Given the description of an element on the screen output the (x, y) to click on. 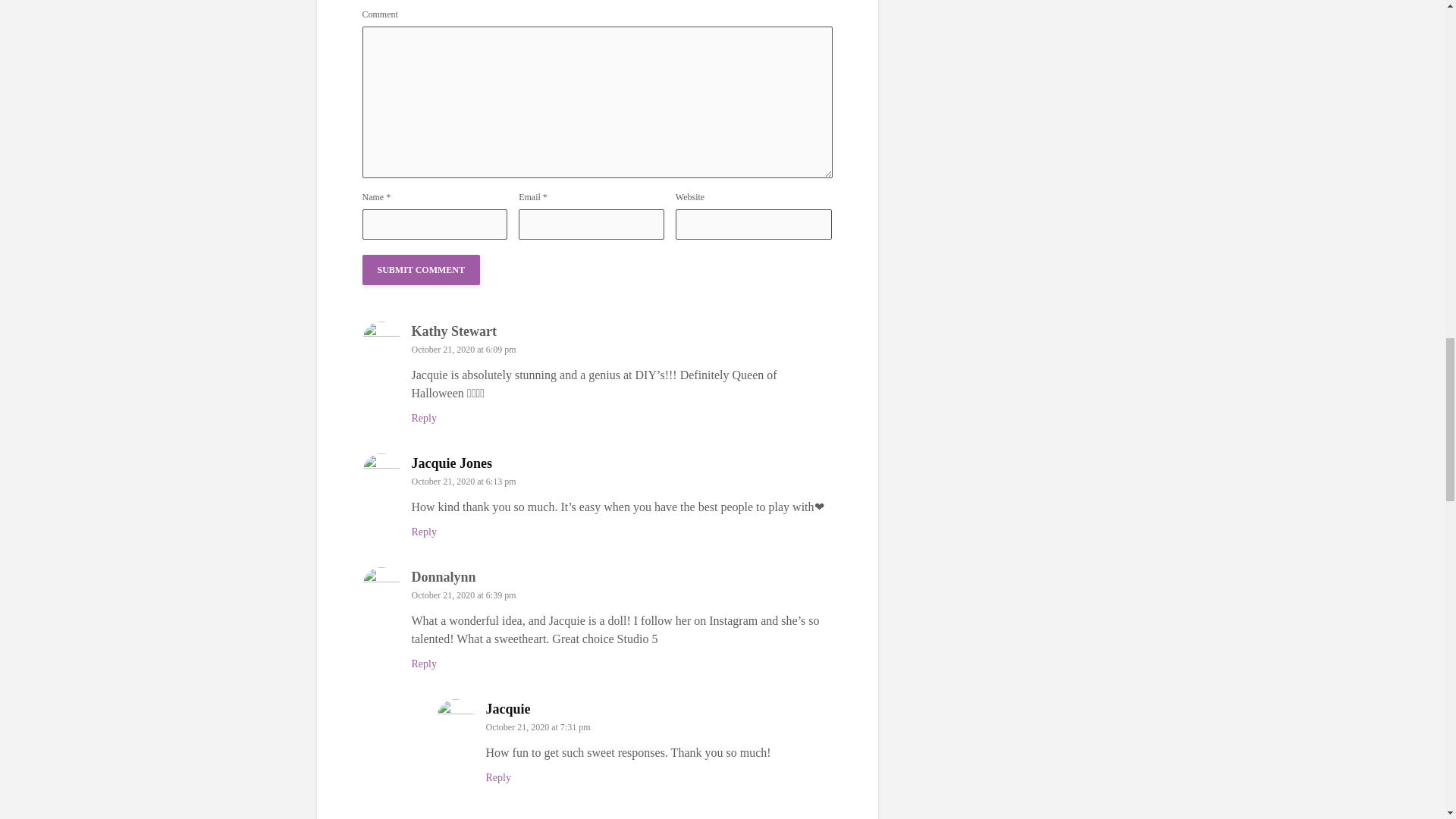
Submit Comment (421, 269)
Kathy Stewart (453, 331)
Submit Comment (421, 269)
